Given the description of an element on the screen output the (x, y) to click on. 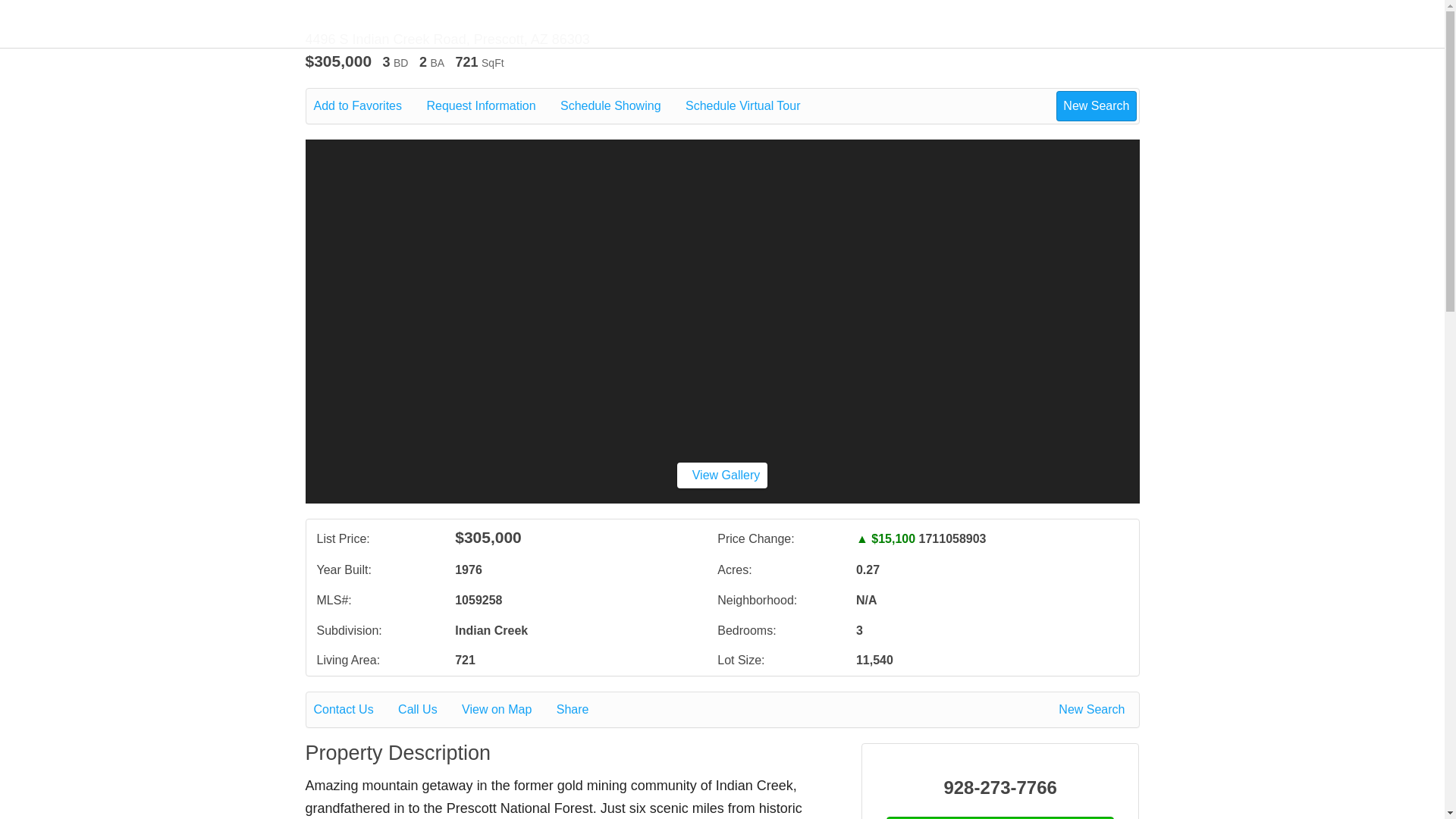
Request Information (491, 106)
Schedule Showing (621, 106)
Schedule Virtual Tour (753, 106)
Call Us (427, 709)
Contact Us (354, 709)
View Gallery (722, 474)
New Search (1094, 709)
Add to Favorites (368, 106)
New Search (1096, 105)
View Gallery (722, 475)
